Given the description of an element on the screen output the (x, y) to click on. 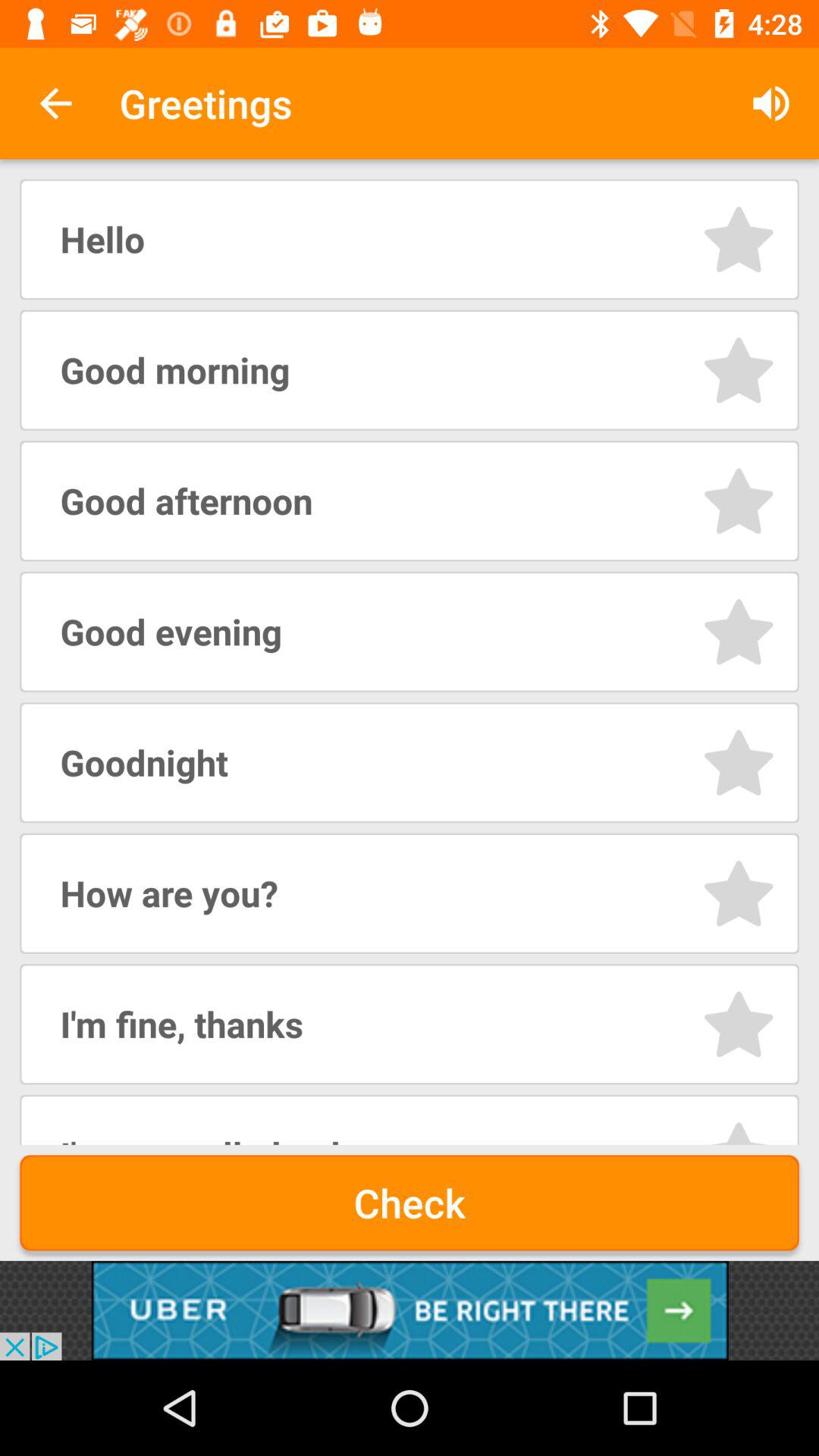
go to star (738, 1024)
